Given the description of an element on the screen output the (x, y) to click on. 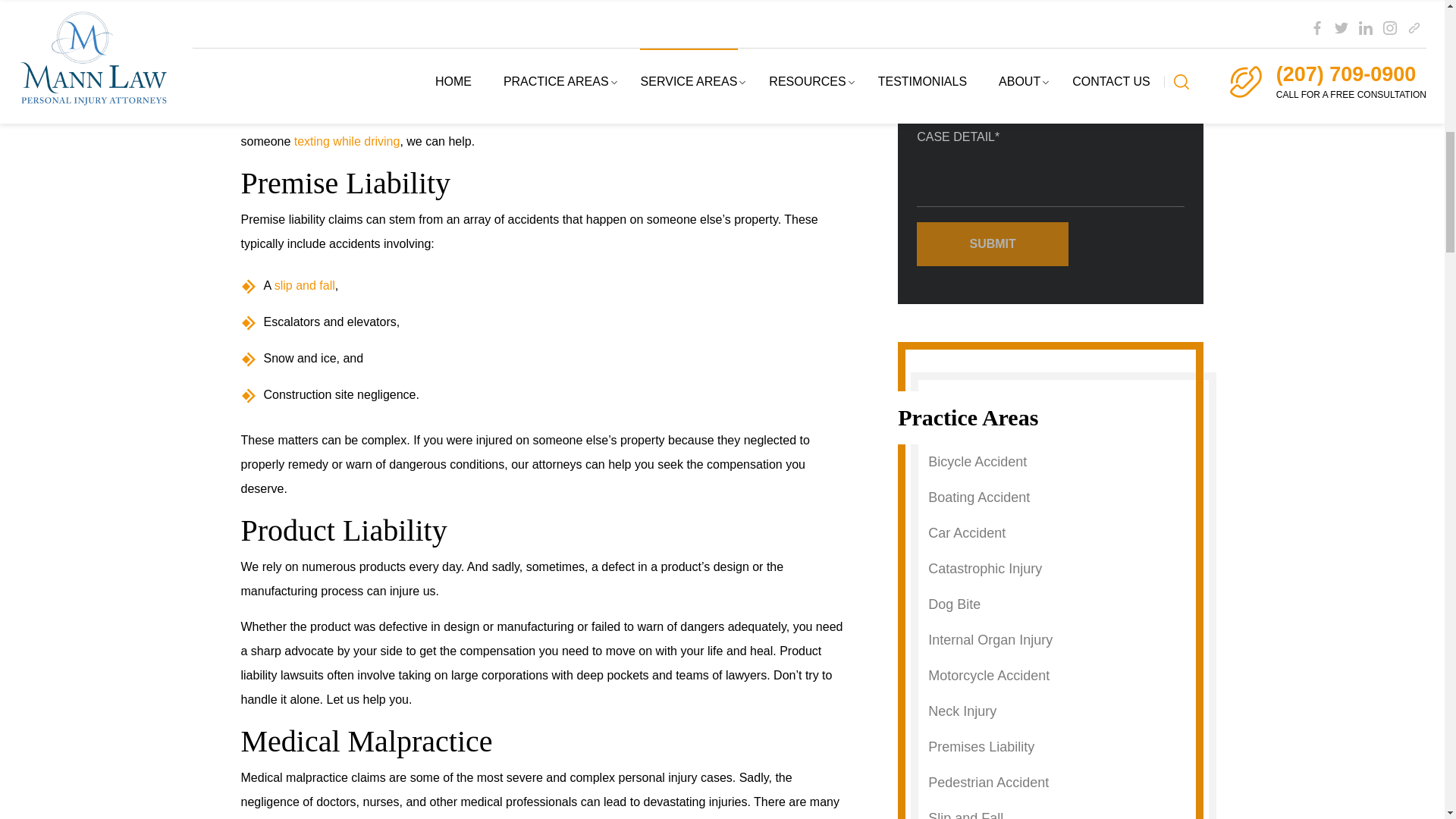
Submit (992, 243)
